Given the description of an element on the screen output the (x, y) to click on. 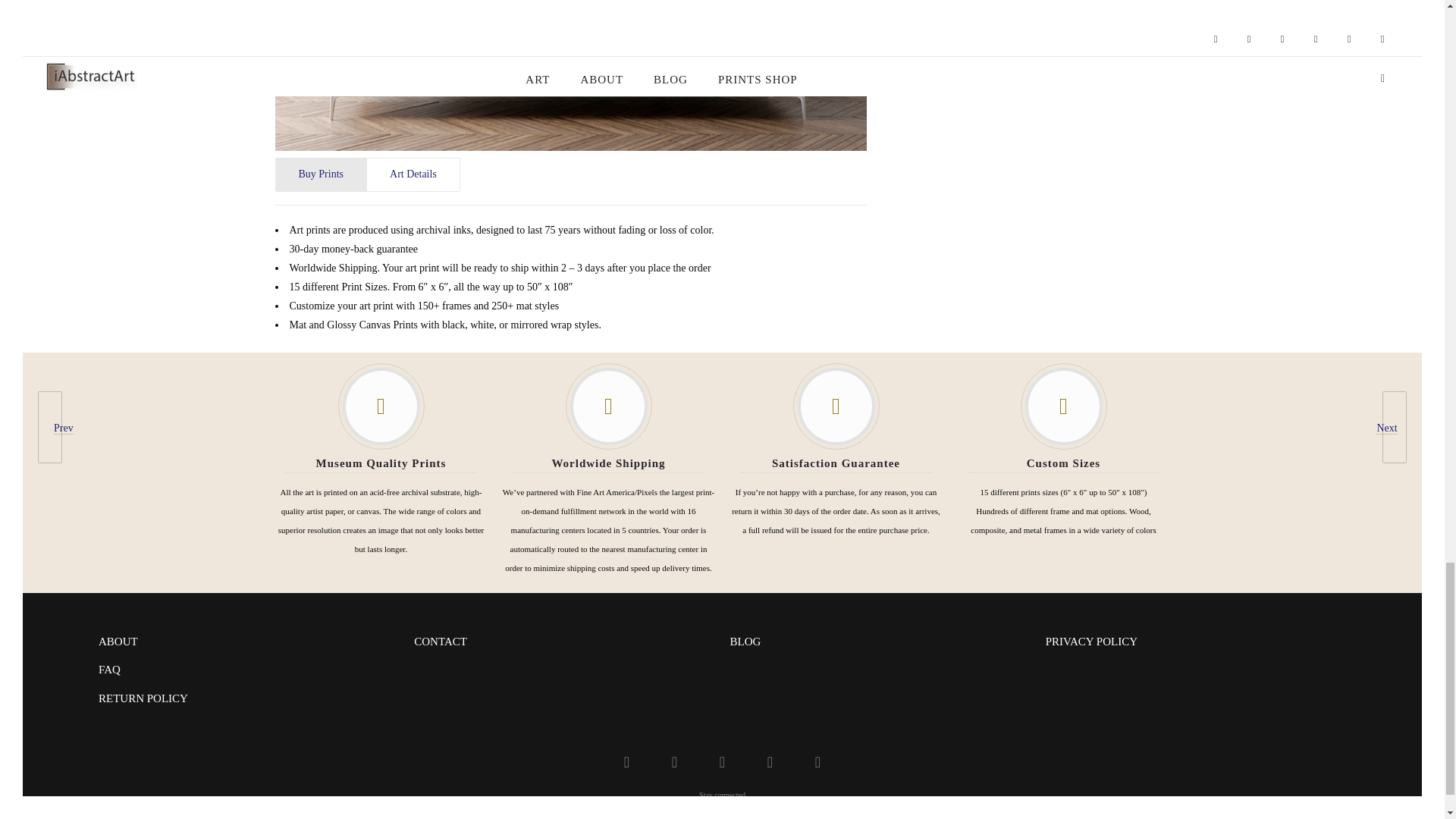
FAQ (109, 669)
Buy Prints (320, 174)
Art Details (413, 174)
Peaceful Dawn - Abstract Landscape - Interior Preview (570, 75)
Privacy Policy (118, 641)
Privacy Policy (143, 698)
Privacy Policy (109, 669)
ABOUT (118, 641)
RETURN POLICY (143, 698)
